Given the description of an element on the screen output the (x, y) to click on. 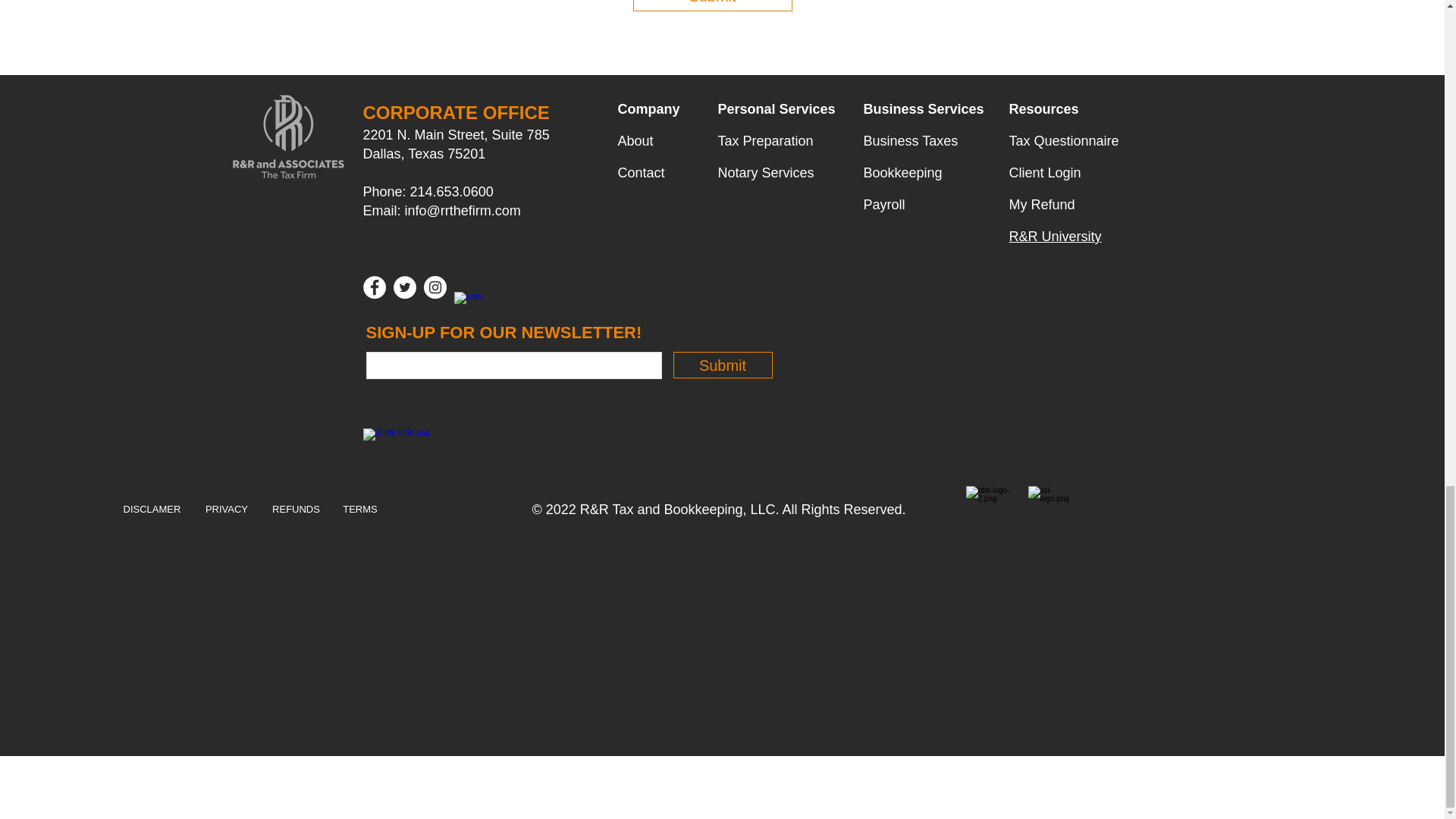
Tax Preparation (764, 140)
Notary Services (765, 172)
Business Taxes (910, 140)
Submit (711, 5)
Contact (640, 172)
Tax Questionnaire (1063, 140)
Payroll (883, 204)
About (634, 140)
Client Login (1044, 172)
Submit (722, 365)
